Given the description of an element on the screen output the (x, y) to click on. 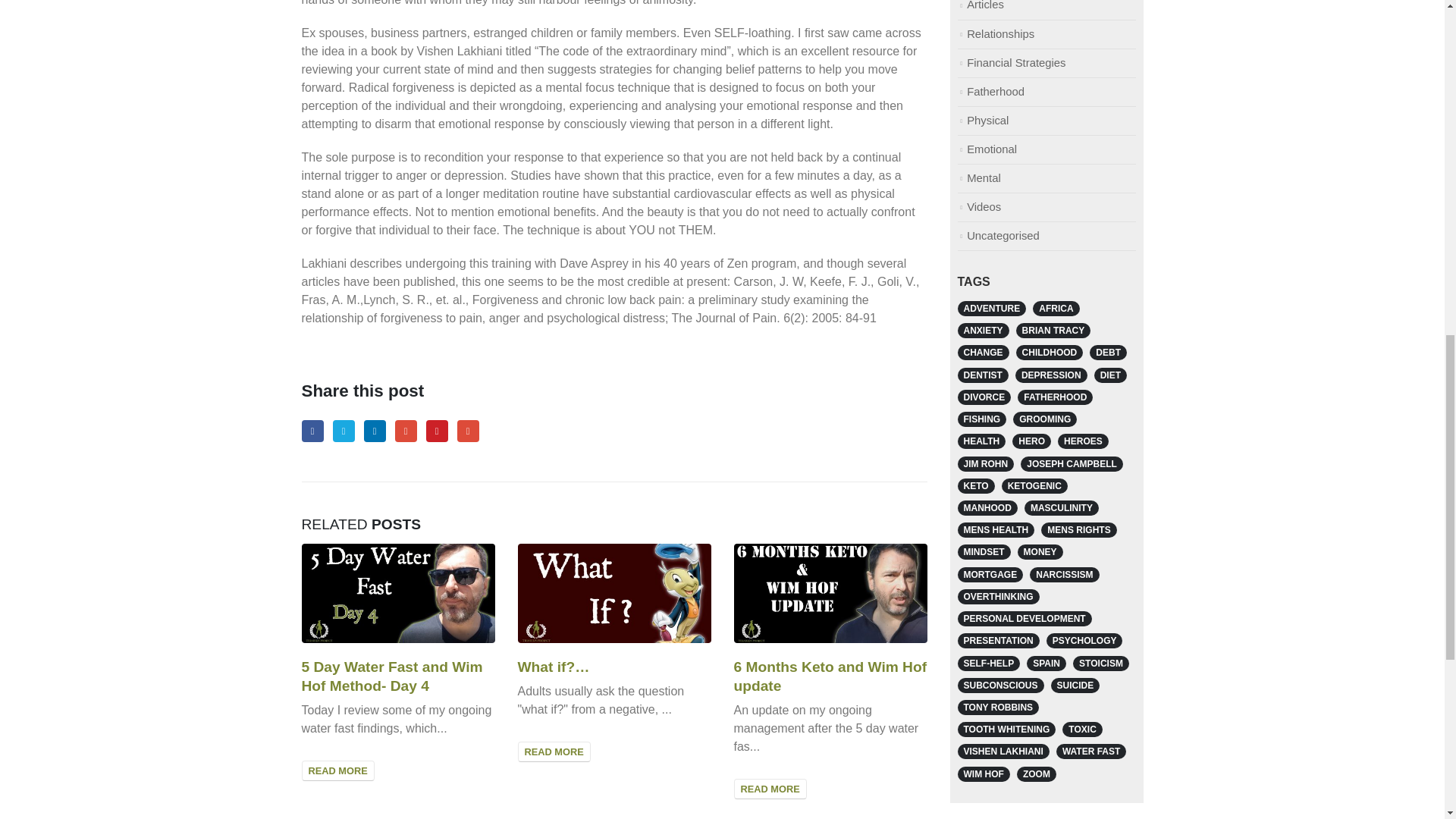
Facebook (312, 431)
